Given the description of an element on the screen output the (x, y) to click on. 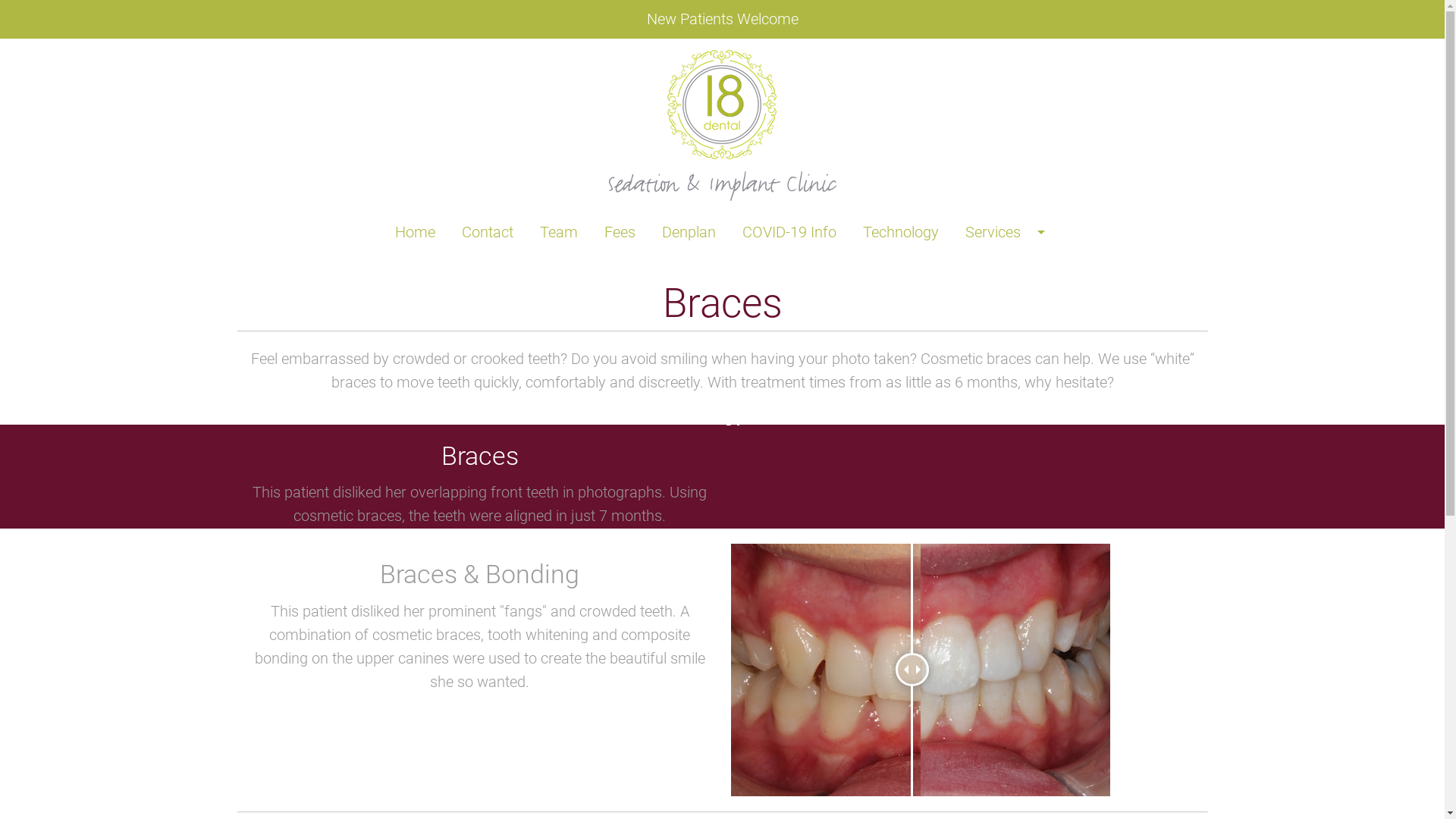
Technology Element type: text (899, 231)
Contact Element type: text (487, 231)
Home Element type: text (414, 231)
Denplan Element type: text (688, 231)
Team Element type: text (557, 231)
Services
arrow_drop_down Element type: text (1007, 231)
COVID-19 Info Element type: text (789, 231)
Fees Element type: text (619, 231)
